Given the description of an element on the screen output the (x, y) to click on. 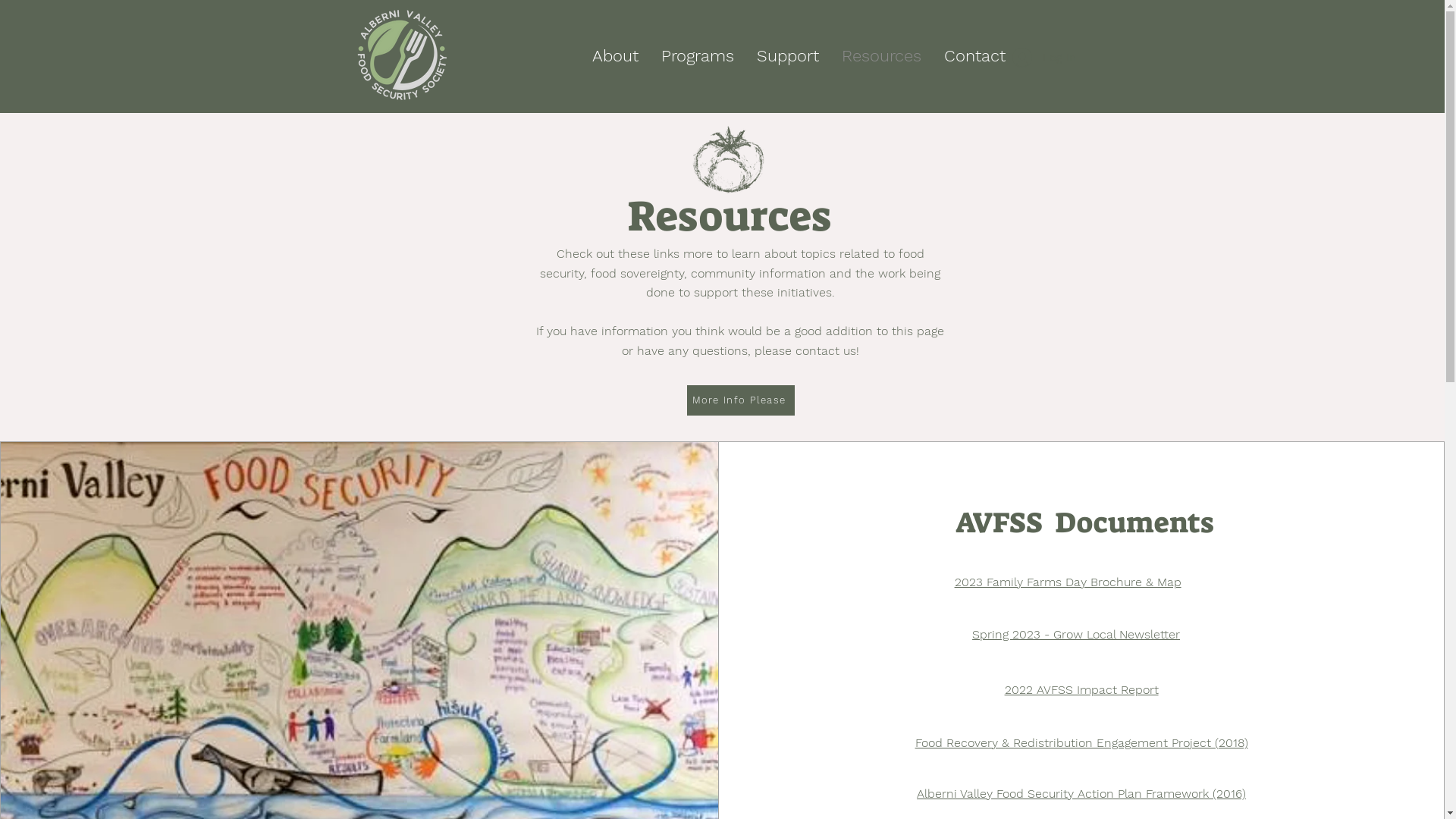
2022 AVFSS Impact Report Element type: text (1081, 689)
Food Recovery & Redistribution Engagement Project (2018) Element type: text (1081, 742)
More Info Please Element type: text (740, 400)
Spring 2023 - Grow Local Newsletter Element type: text (1075, 634)
Support Element type: text (787, 55)
Programs Element type: text (697, 55)
Resources Element type: text (881, 55)
Log In Element type: text (1043, 57)
About Element type: text (614, 55)
Contact Element type: text (974, 55)
2023 Family Farms Day Brochure & Map Element type: text (1067, 581)
Alberni Valley Food Security Action Plan Framework (2016) Element type: text (1080, 793)
